Given the description of an element on the screen output the (x, y) to click on. 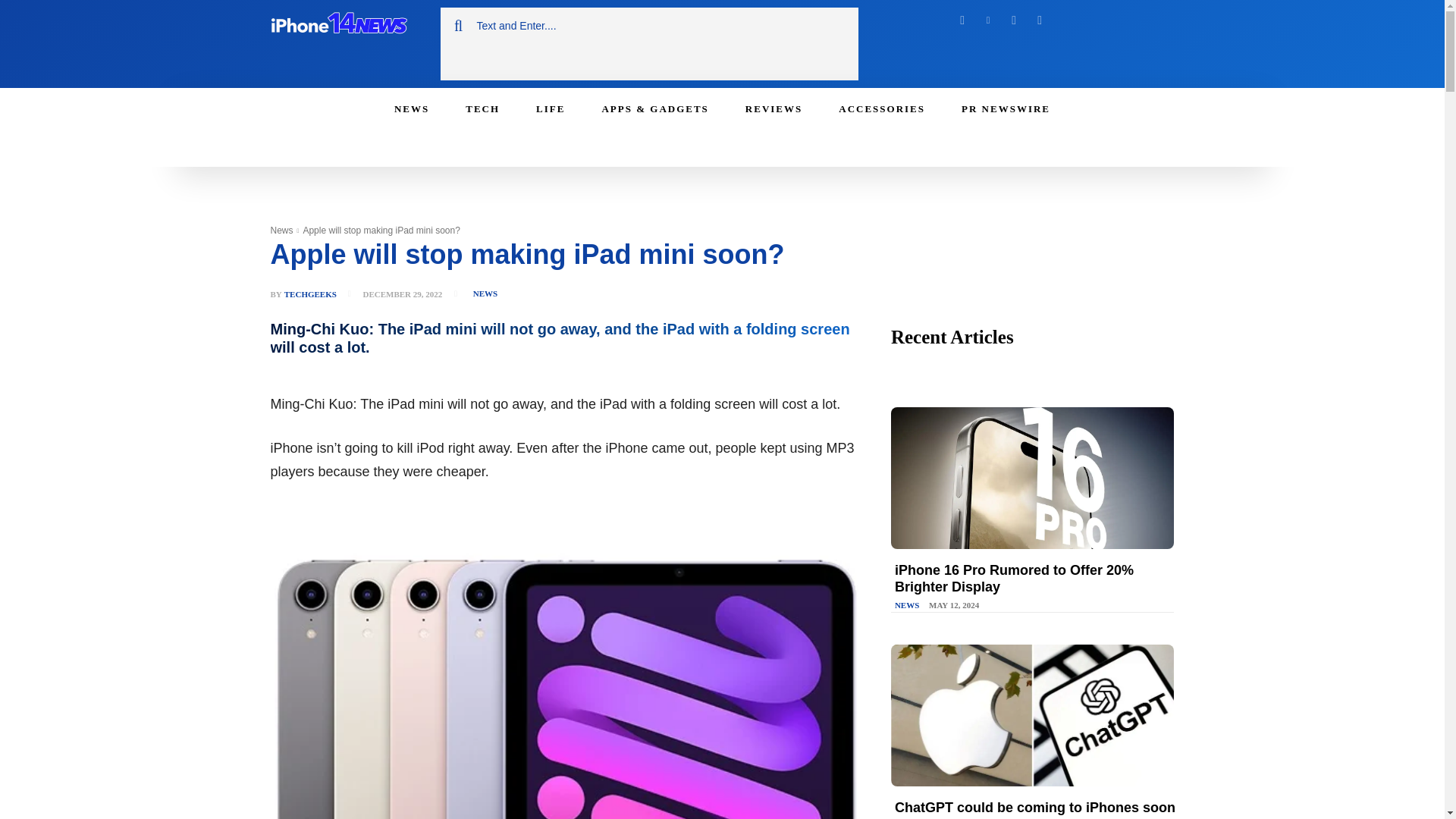
REVIEWS (773, 108)
LIFE (550, 108)
Linkedin (987, 20)
Youtube (1039, 20)
View all posts in News (280, 230)
Twitter (1013, 20)
iphone 14 news (337, 26)
Facebook (962, 20)
News (280, 230)
ACCESSORIES (882, 108)
NEWS (410, 108)
PR NEWSWIRE (1005, 108)
NEWS (484, 293)
iphone 14 news (345, 26)
TECHGEEKS (309, 294)
